Given the description of an element on the screen output the (x, y) to click on. 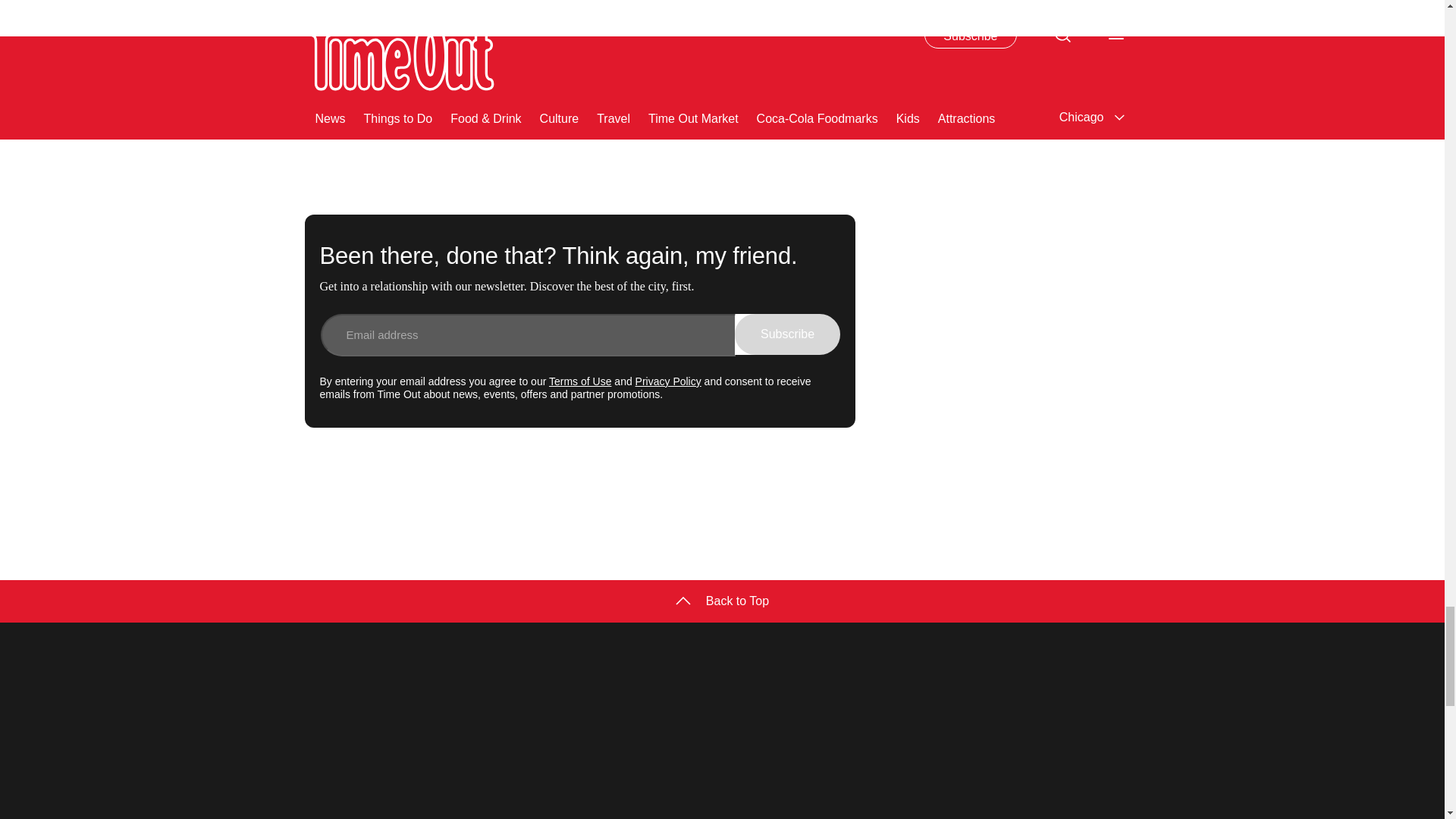
Subscribe (787, 333)
Subscribe (802, 51)
